Given the description of an element on the screen output the (x, y) to click on. 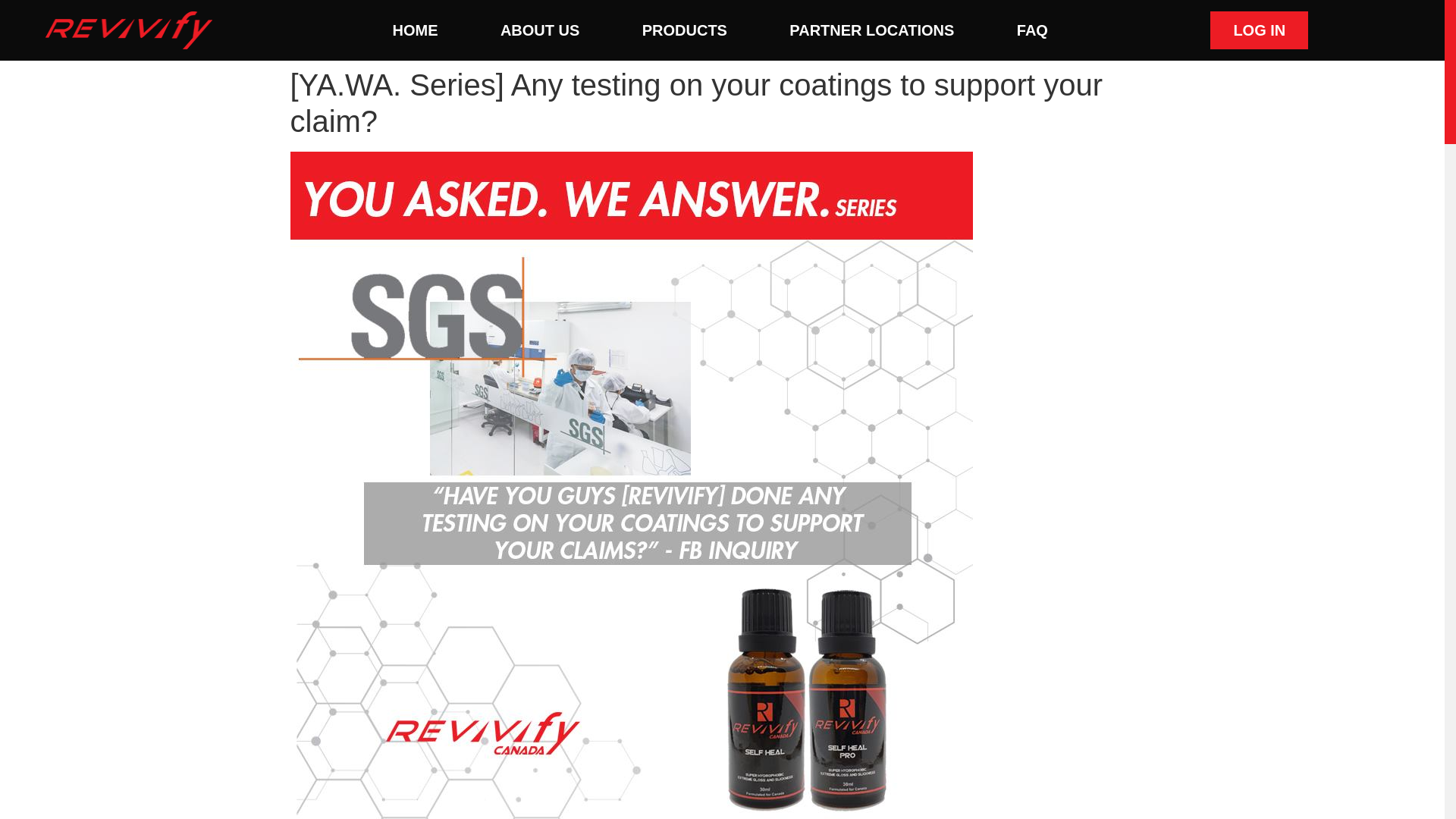
PARTNER LOCATIONS (871, 30)
PRODUCTS (684, 30)
ABOUT US (539, 30)
HOME (414, 30)
LOG IN (1258, 30)
FAQ (1032, 30)
